Given the description of an element on the screen output the (x, y) to click on. 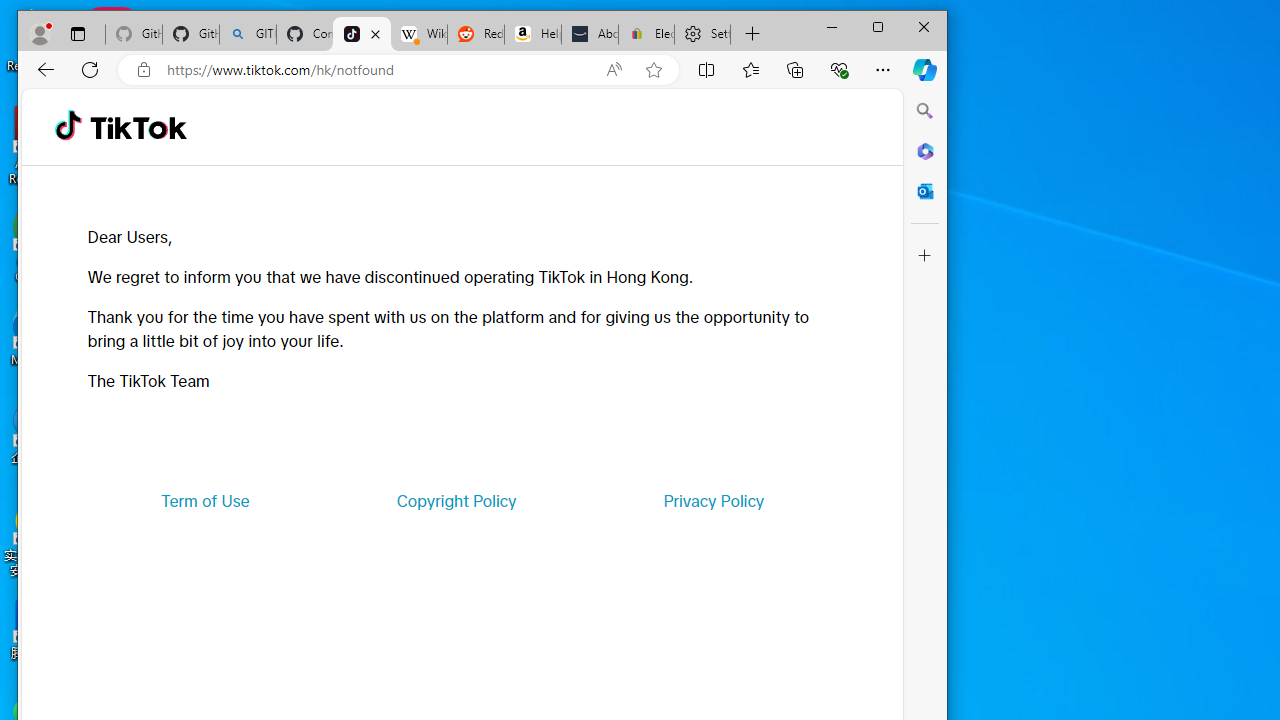
Privacy Policy (713, 500)
GITHUB - Search (248, 34)
